Given the description of an element on the screen output the (x, y) to click on. 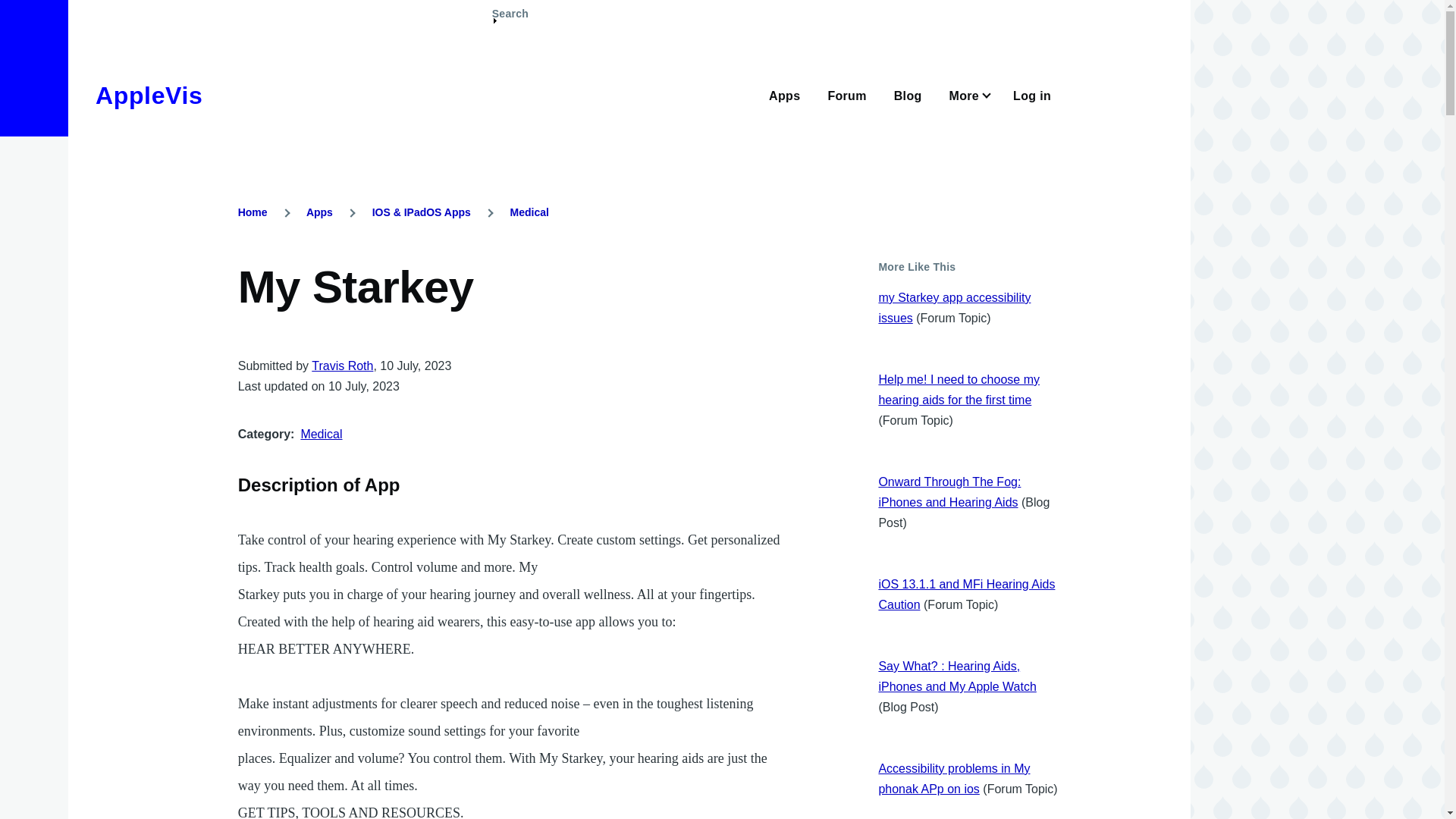
Home (149, 94)
Browse and search our App Directories (783, 94)
Help me! I need to choose my hearing aids for the first time (958, 389)
More community resources (968, 94)
AppleVis (149, 94)
my Starkey app accessibility issues (953, 307)
Search (510, 20)
Forum (846, 94)
Medical (529, 212)
Medical (320, 433)
Blog (907, 94)
Log in (1032, 94)
More (968, 94)
Skip to main content (595, 6)
Travis Roth (341, 365)
